Given the description of an element on the screen output the (x, y) to click on. 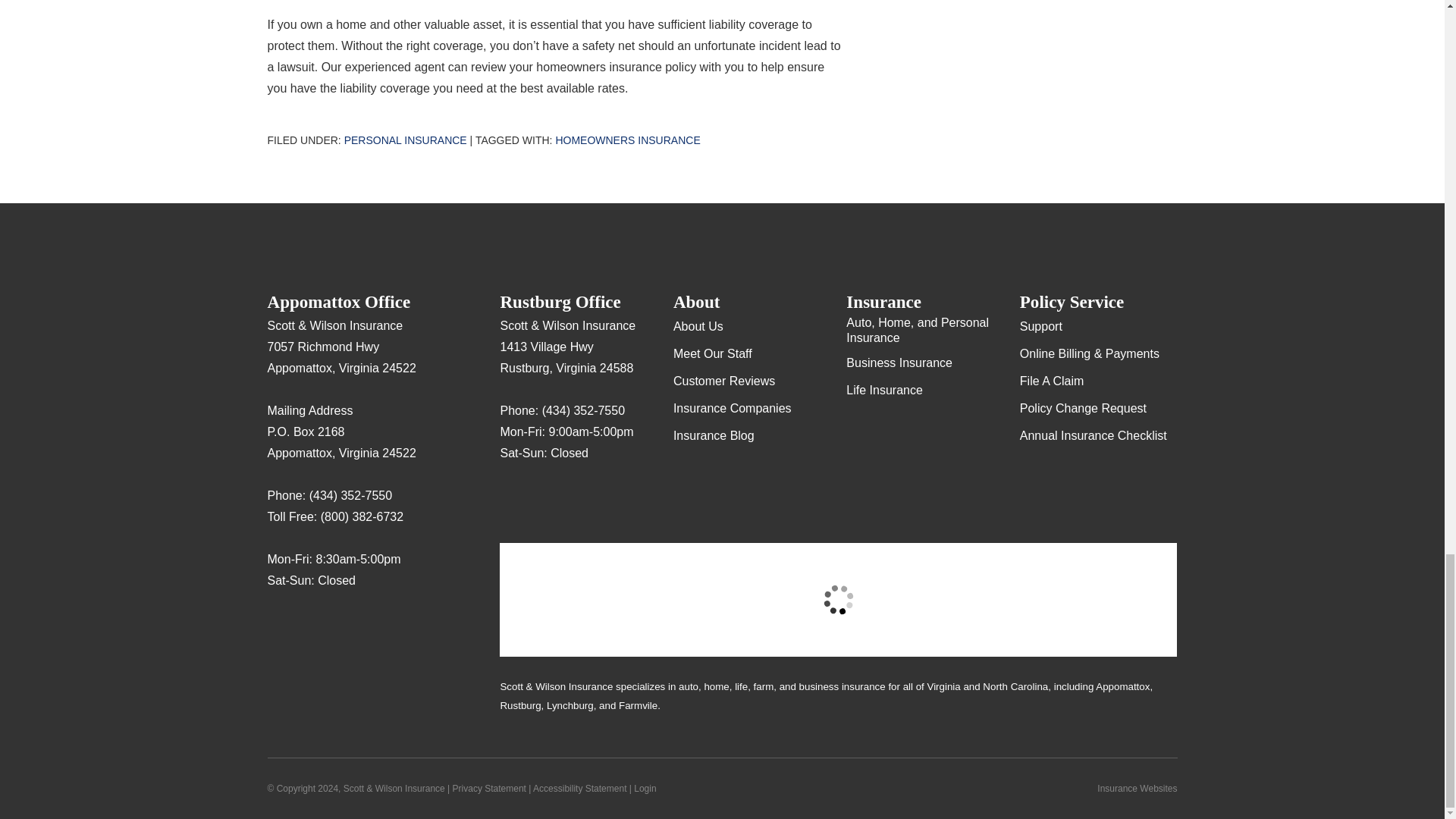
Personal Insurance (405, 140)
Google Maps (278, 625)
Yelp (309, 625)
Facebook (338, 625)
Google Maps (511, 498)
Homeowners Insurance (627, 140)
